Given the description of an element on the screen output the (x, y) to click on. 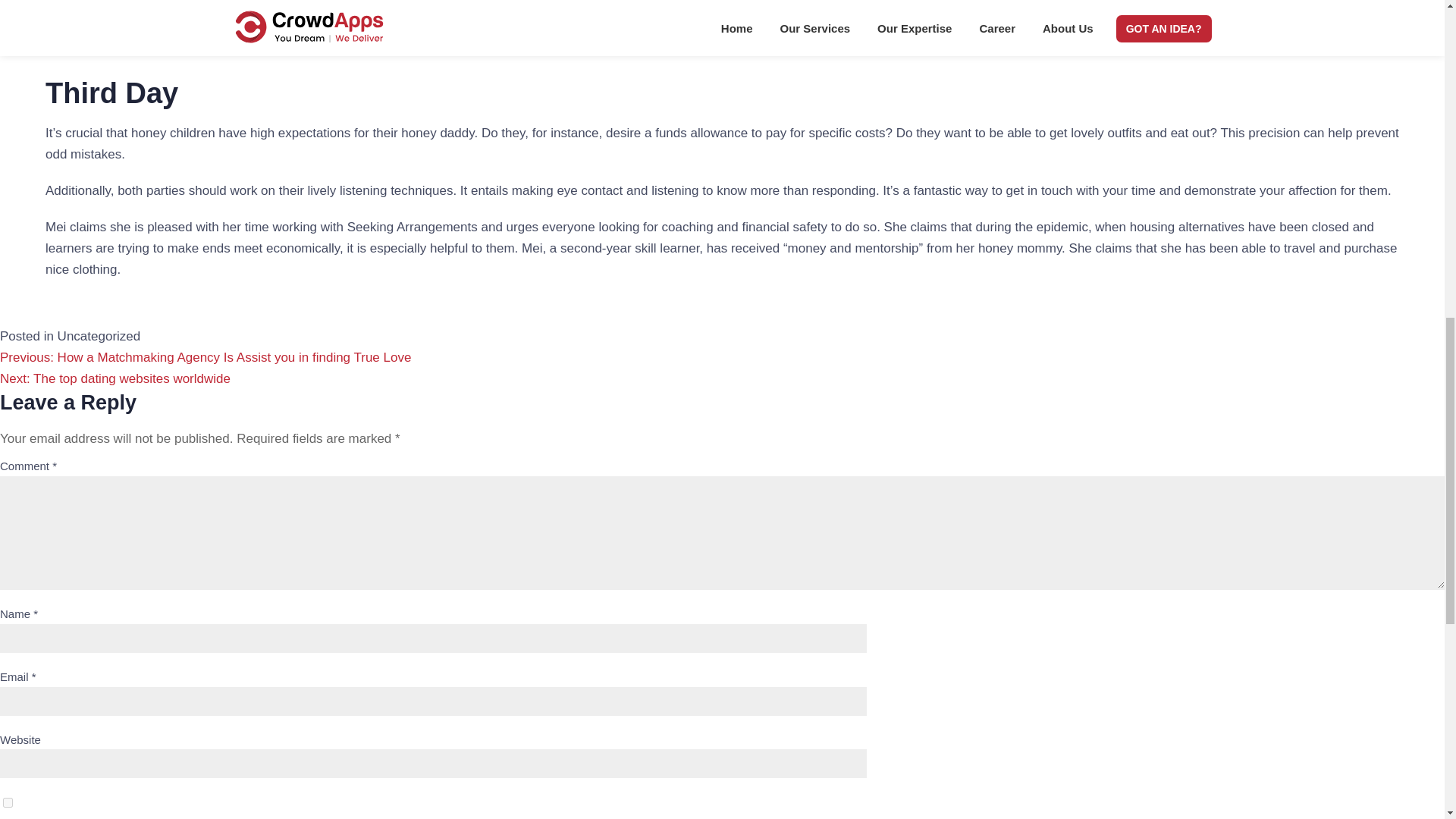
Next: The top dating websites worldwide (115, 378)
yes (7, 802)
